Given the description of an element on the screen output the (x, y) to click on. 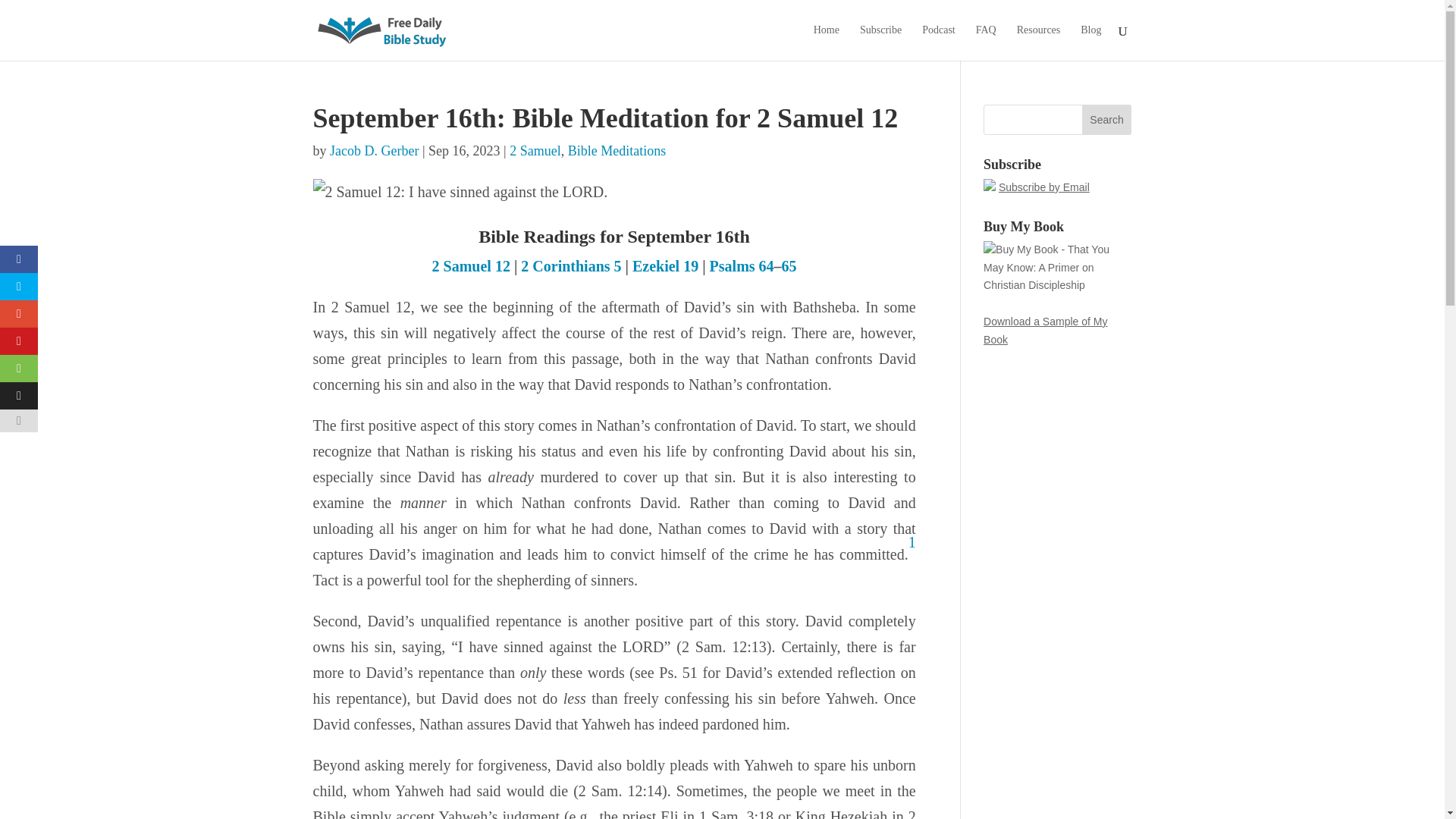
Search (1106, 119)
2 Samuel 12 (471, 265)
Search (1106, 119)
Podcast (938, 42)
Jacob D. Gerber (374, 150)
Bible Meditations (616, 150)
Subscribe by Email (1043, 186)
65 (788, 265)
Subscribe (880, 42)
Download a Sample of My Book (1045, 330)
Psalms 64 (742, 265)
Posts by Jacob D. Gerber (374, 150)
2 Corinthians 5 (571, 265)
Ezekiel 19 (664, 265)
2 Samuel (534, 150)
